Given the description of an element on the screen output the (x, y) to click on. 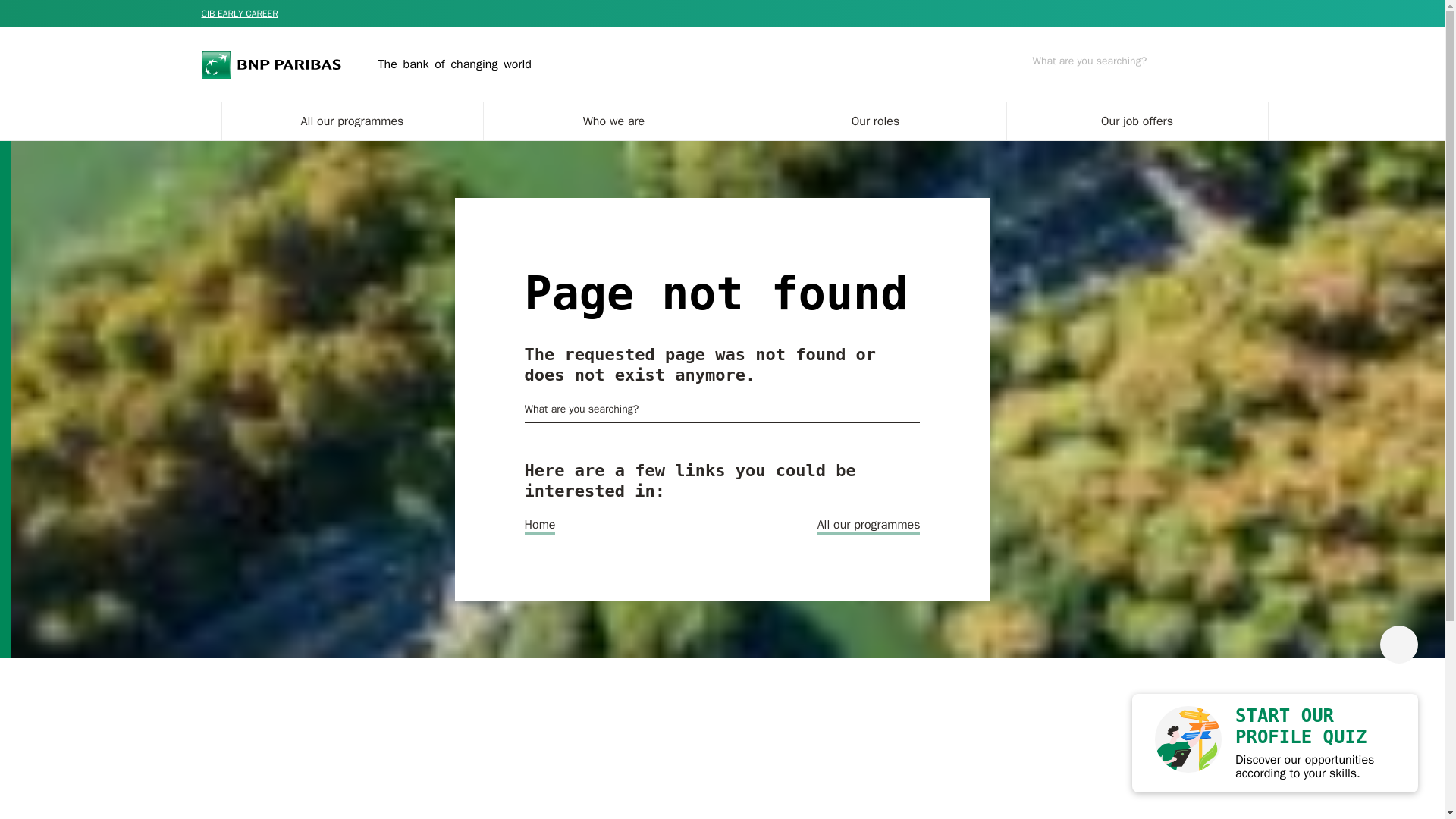
Our roles (875, 121)
All our programmes (868, 525)
Home (540, 525)
CIB EARLY CAREER (240, 13)
What are you searching? (1137, 63)
Search (912, 409)
Our job offers (1137, 121)
Go up (1399, 644)
CIB Early Career - Homepage - BNP Paribas (240, 13)
